Given the description of an element on the screen output the (x, y) to click on. 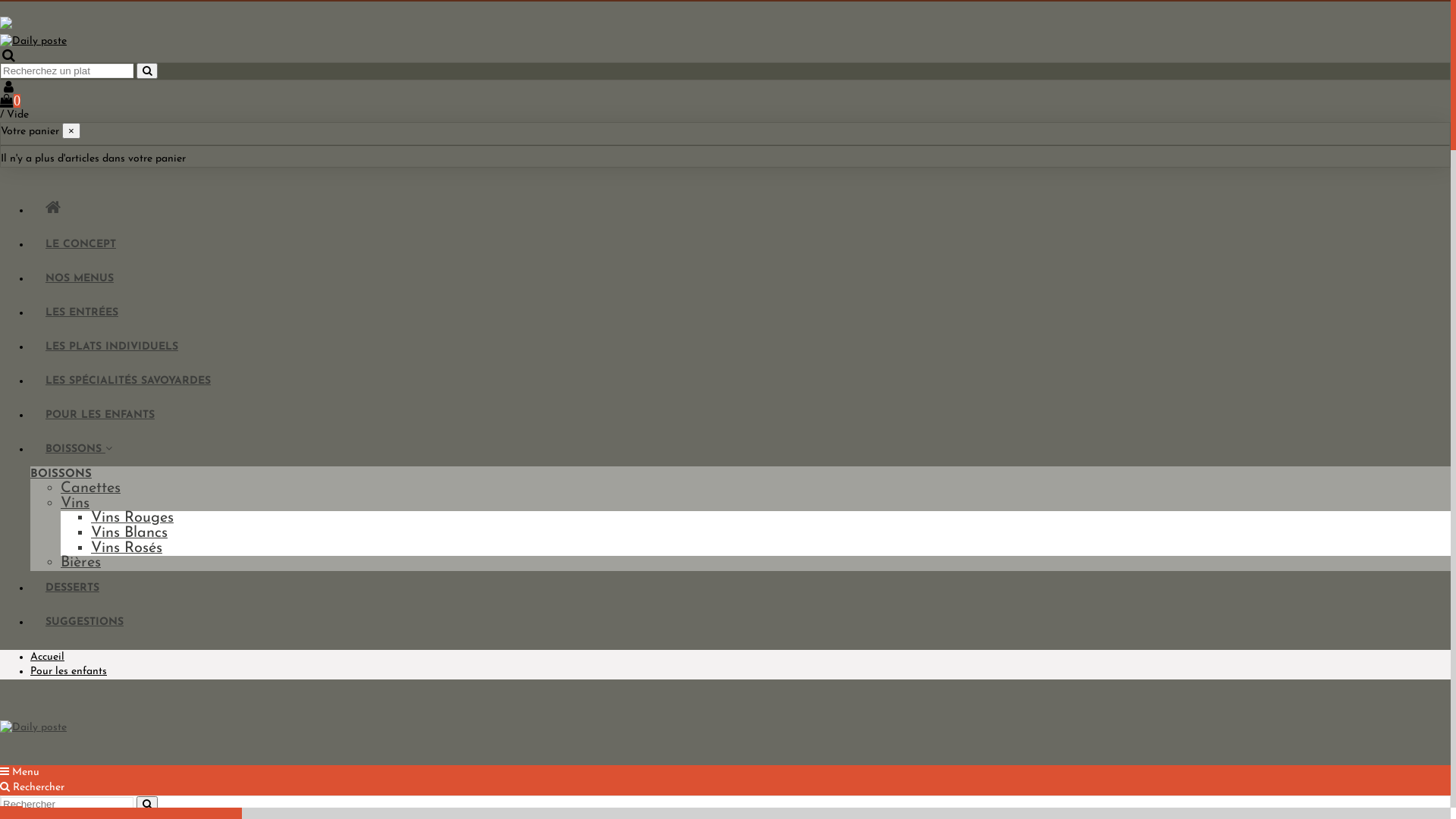
Rechercher Element type: text (32, 787)
Vins Element type: text (74, 503)
Canettes Element type: text (90, 487)
DESSERTS Element type: text (72, 587)
Vins Blancs Element type: text (129, 532)
Accueil Element type: text (47, 656)
LES PLATS INDIVIDUELS Element type: text (111, 346)
POUR LES ENFANTS Element type: text (99, 414)
Menu Element type: text (19, 772)
NOS MENUS Element type: text (79, 278)
LE CONCEPT Element type: text (80, 244)
Identifiez-vous Element type: hover (725, 87)
0
/ Vide Element type: text (725, 107)
SUGGESTIONS Element type: text (84, 621)
BOISSONS Element type: text (78, 449)
Vins Rouges Element type: text (132, 517)
BOISSONS Element type: text (60, 474)
Pour les enfants Element type: text (68, 671)
